Given the description of an element on the screen output the (x, y) to click on. 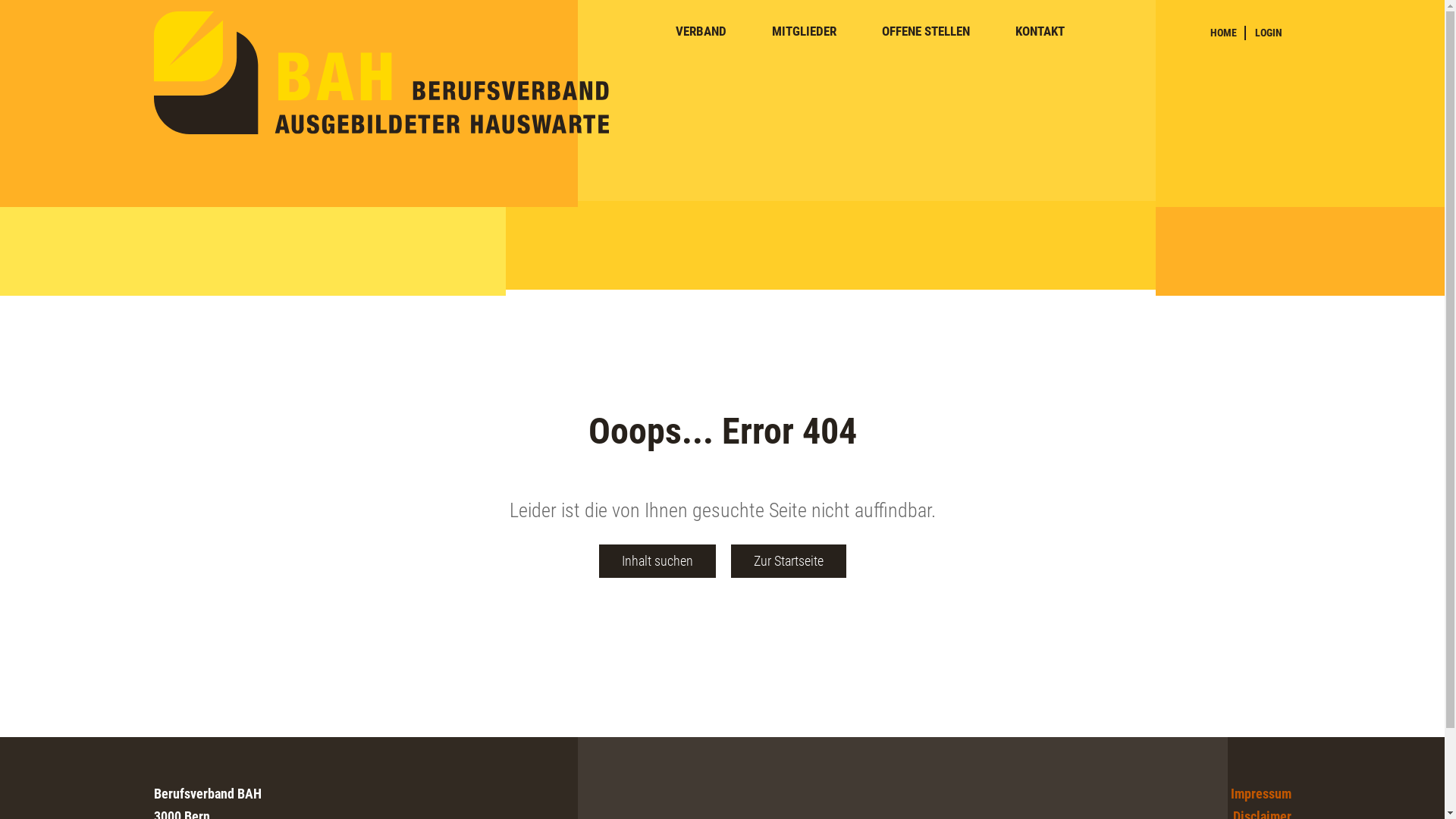
LOGIN Element type: text (1267, 32)
Inhalt suchen Element type: text (657, 560)
HOME Element type: text (1223, 32)
VERBAND Element type: text (700, 32)
KONTAKT Element type: text (1038, 32)
OFFENE STELLEN Element type: text (924, 32)
Zur Startseite Element type: text (788, 560)
MITGLIEDER Element type: text (804, 32)
Impressum Element type: text (1260, 793)
Berufsverband ausgebildeter Hauswarte Element type: hover (380, 72)
